Given the description of an element on the screen output the (x, y) to click on. 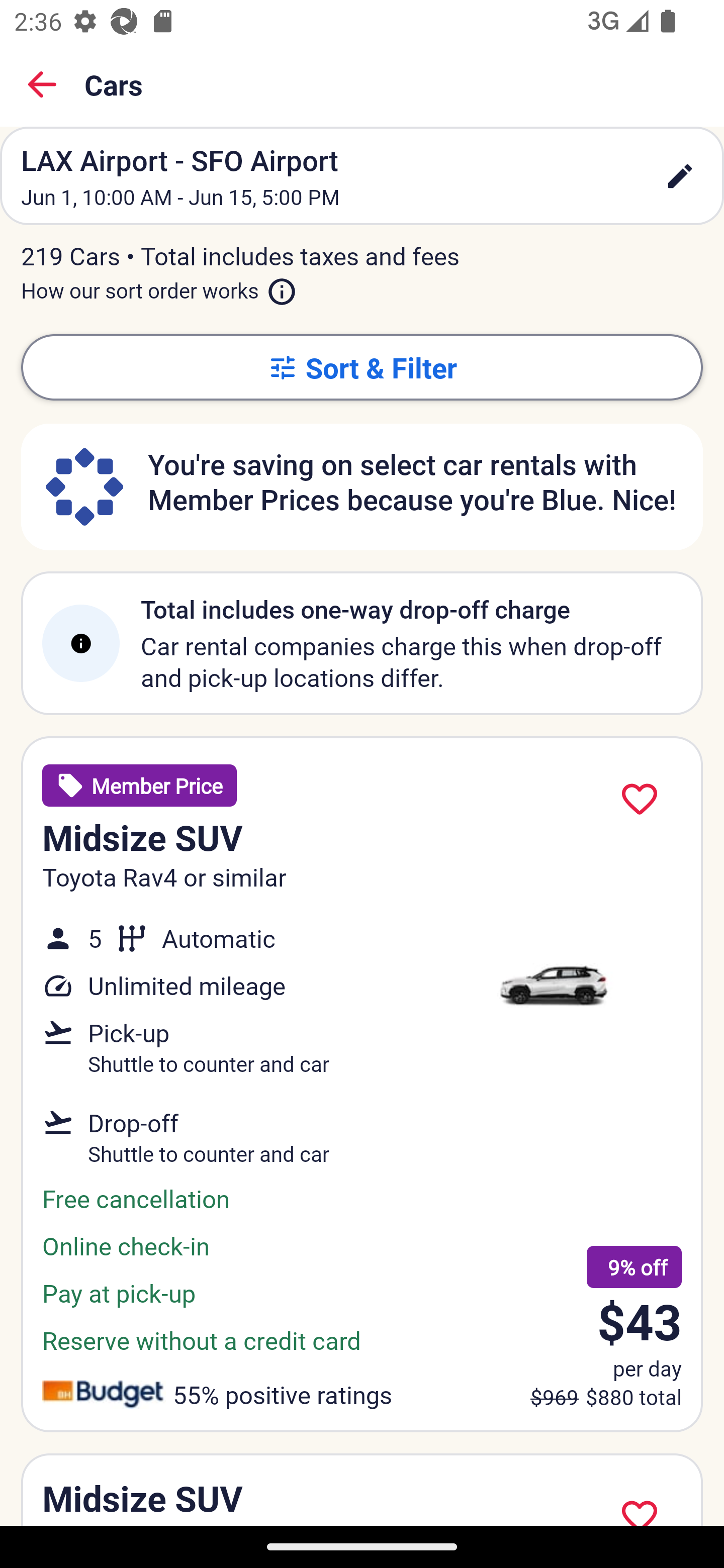
Back (42, 84)
edit (679, 175)
How our sort order works (158, 286)
Sort & Filter (361, 366)
